Given the description of an element on the screen output the (x, y) to click on. 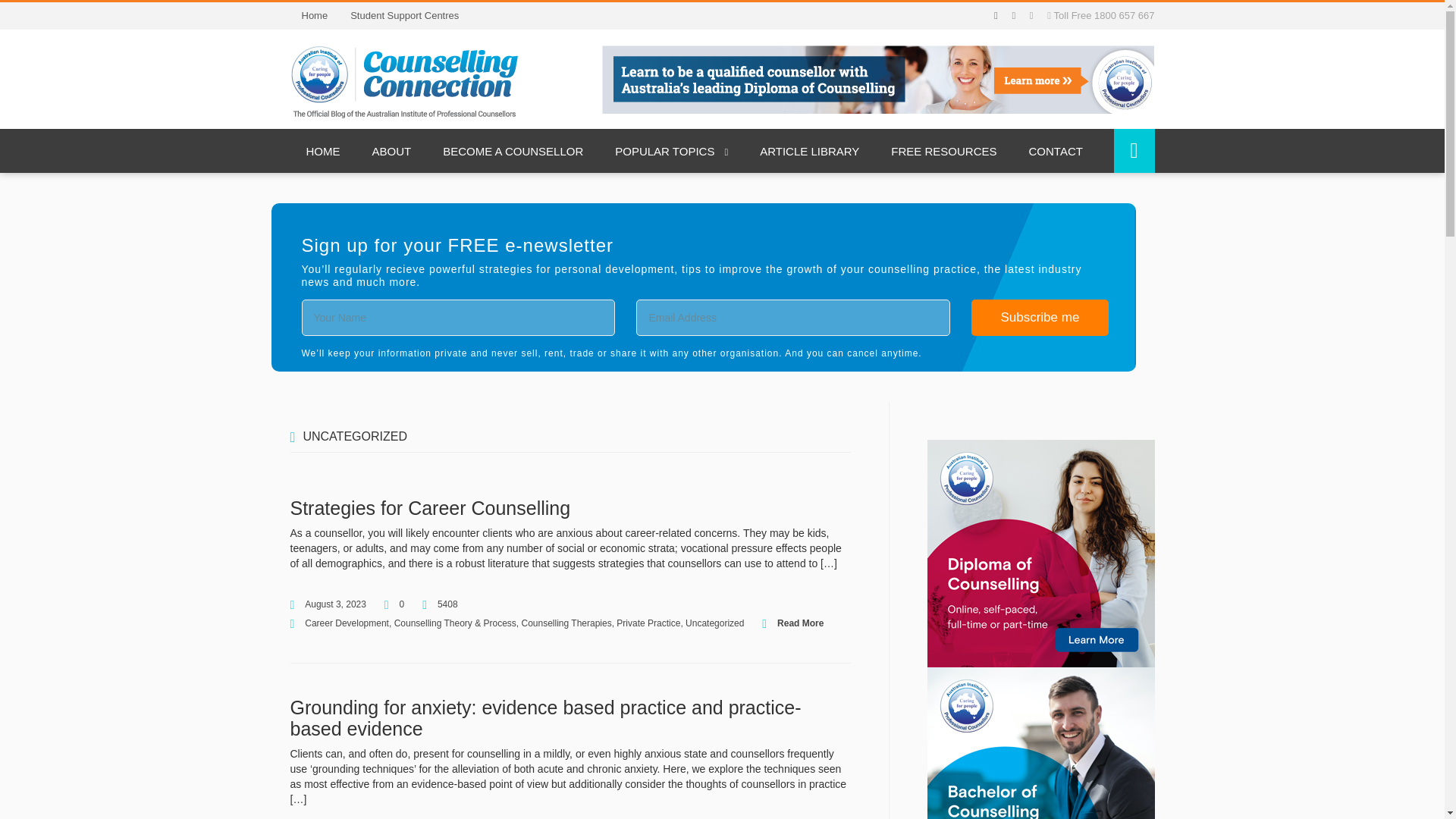
Counselling Connection (402, 80)
Uncategorized (714, 623)
BECOME A COUNSELLOR (512, 150)
Student Support Centres (404, 15)
Counselling Therapies (566, 623)
ABOUT (392, 150)
POPULAR TOPICS (671, 150)
Private Practice (647, 623)
Read More (800, 623)
ARTICLE LIBRARY (809, 150)
